Given the description of an element on the screen output the (x, y) to click on. 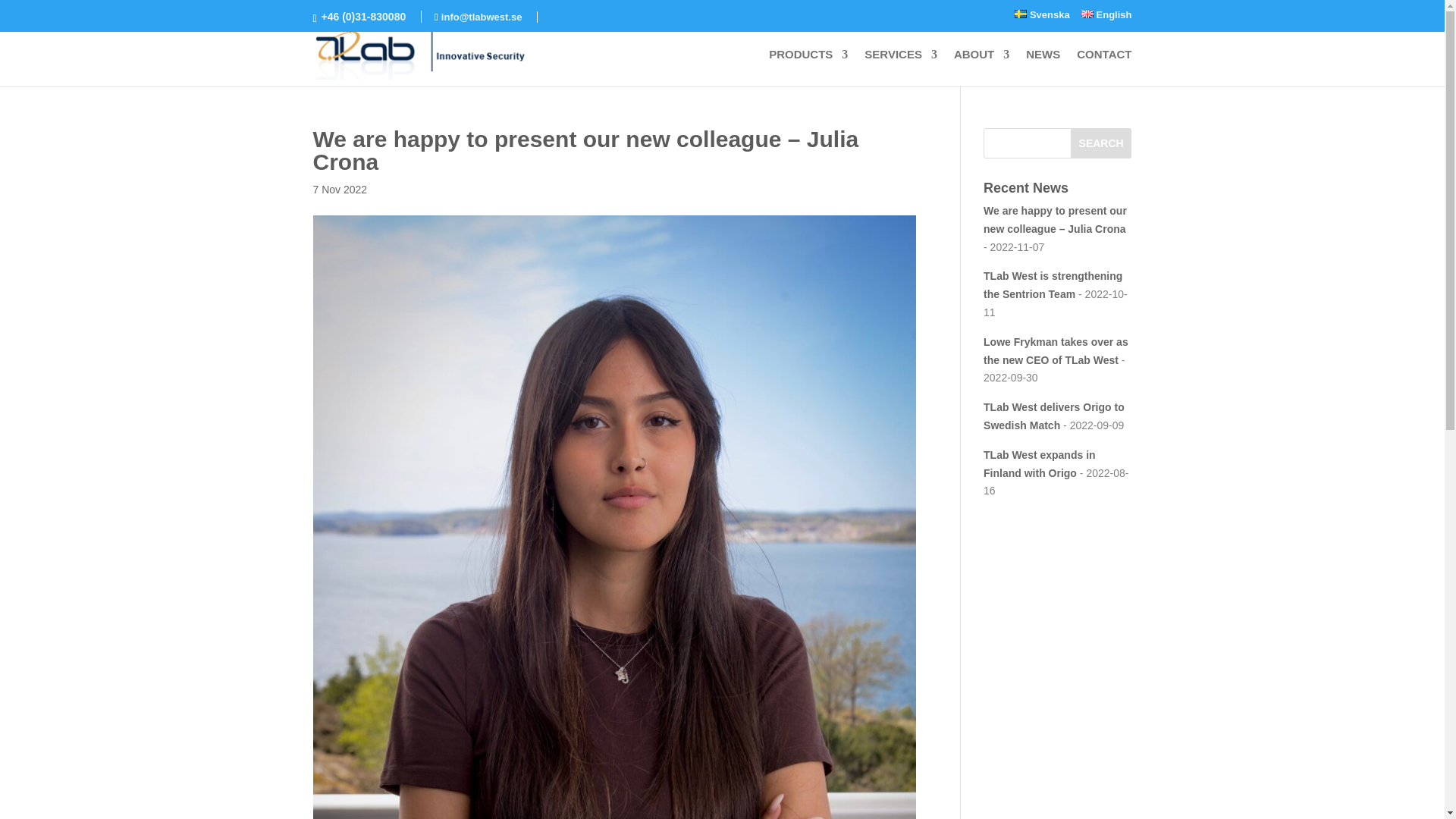
Svenska (1042, 18)
TLab West is strengthening the Sentrion Team (1053, 285)
ABOUT (981, 67)
TLab West delivers Origo to Swedish Match (1054, 416)
TLab West expands in Finland with Origo (1040, 463)
NEWS (1042, 67)
Search (1101, 142)
Lowe Frykman takes over as the new CEO of TLab West (1056, 350)
PRODUCTS (807, 67)
CONTACT (1104, 67)
English (1106, 18)
SERVICES (900, 67)
Search (1101, 142)
